Given the description of an element on the screen output the (x, y) to click on. 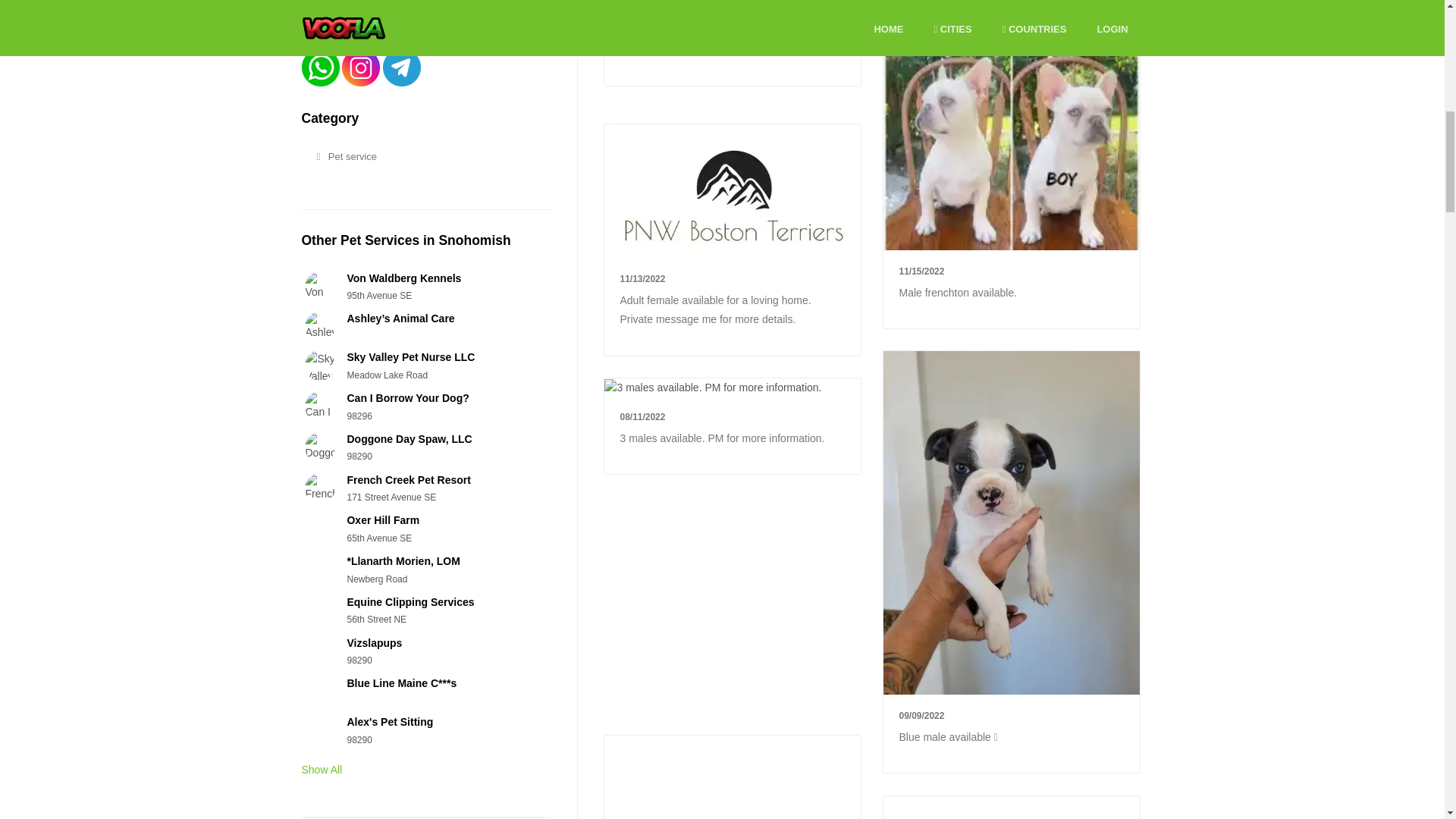
Oxer Hill Farm (382, 520)
Sky Valley Pet Nurse LLC (410, 357)
Doggone Day Spaw, LLC (408, 439)
 Pet service (418, 157)
Alex's Pet Sitting (389, 721)
Equine Clipping Services (410, 602)
Can I Borrow Your Dog? (407, 398)
French Creek Pet Resort (408, 480)
Vizslapups (373, 643)
Show All (321, 769)
Von Waldberg Kennels (403, 277)
